Given the description of an element on the screen output the (x, y) to click on. 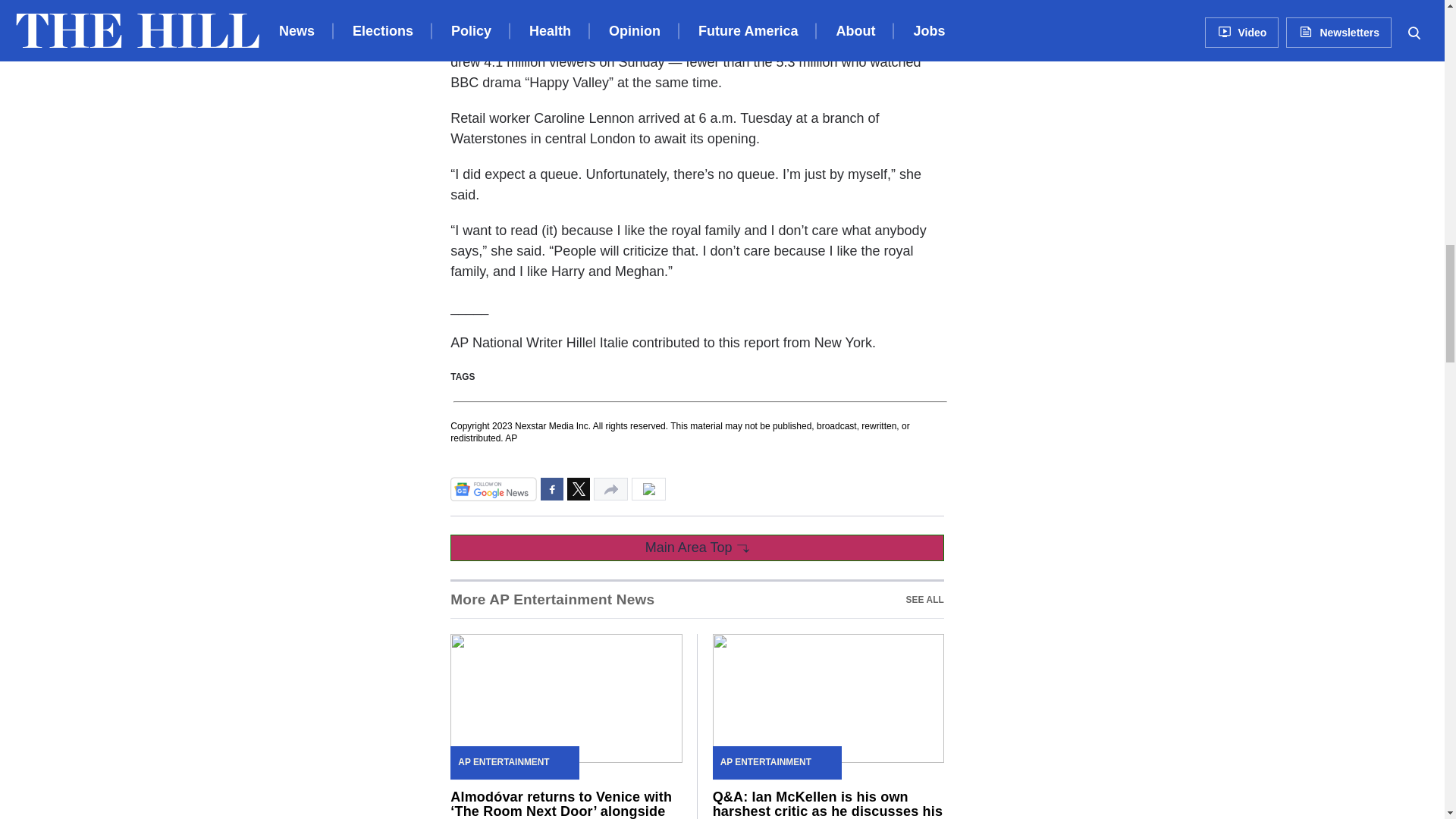
More AP Entertainment News (551, 599)
SEE ALL (924, 599)
SEE ALL (924, 599)
